Given the description of an element on the screen output the (x, y) to click on. 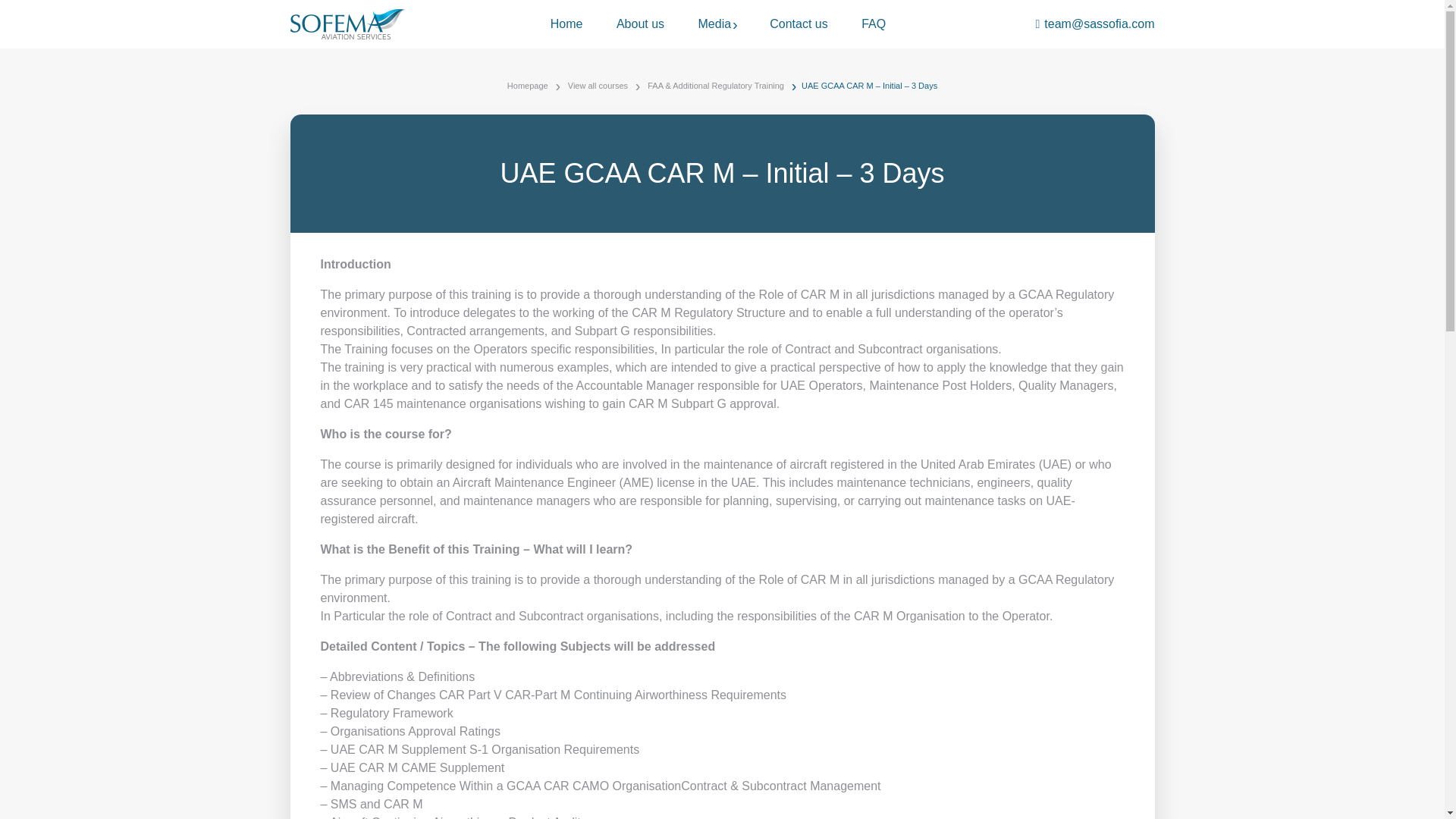
About us (639, 24)
Homepage (527, 85)
View all courses (597, 85)
Contact us (798, 24)
